Given the description of an element on the screen output the (x, y) to click on. 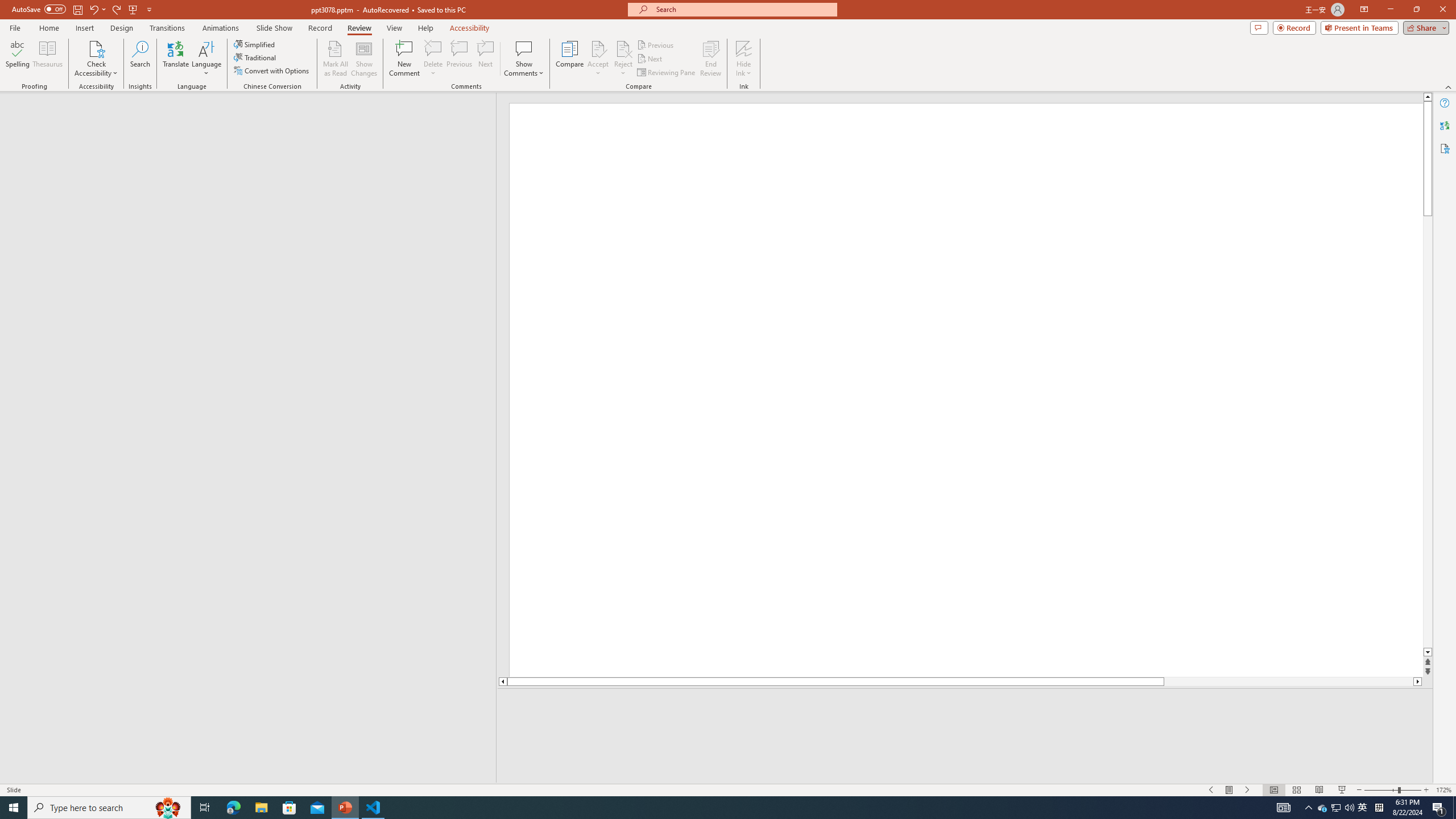
Slide Show Next On (1247, 790)
Menu On (1229, 790)
Previous (655, 44)
